Given the description of an element on the screen output the (x, y) to click on. 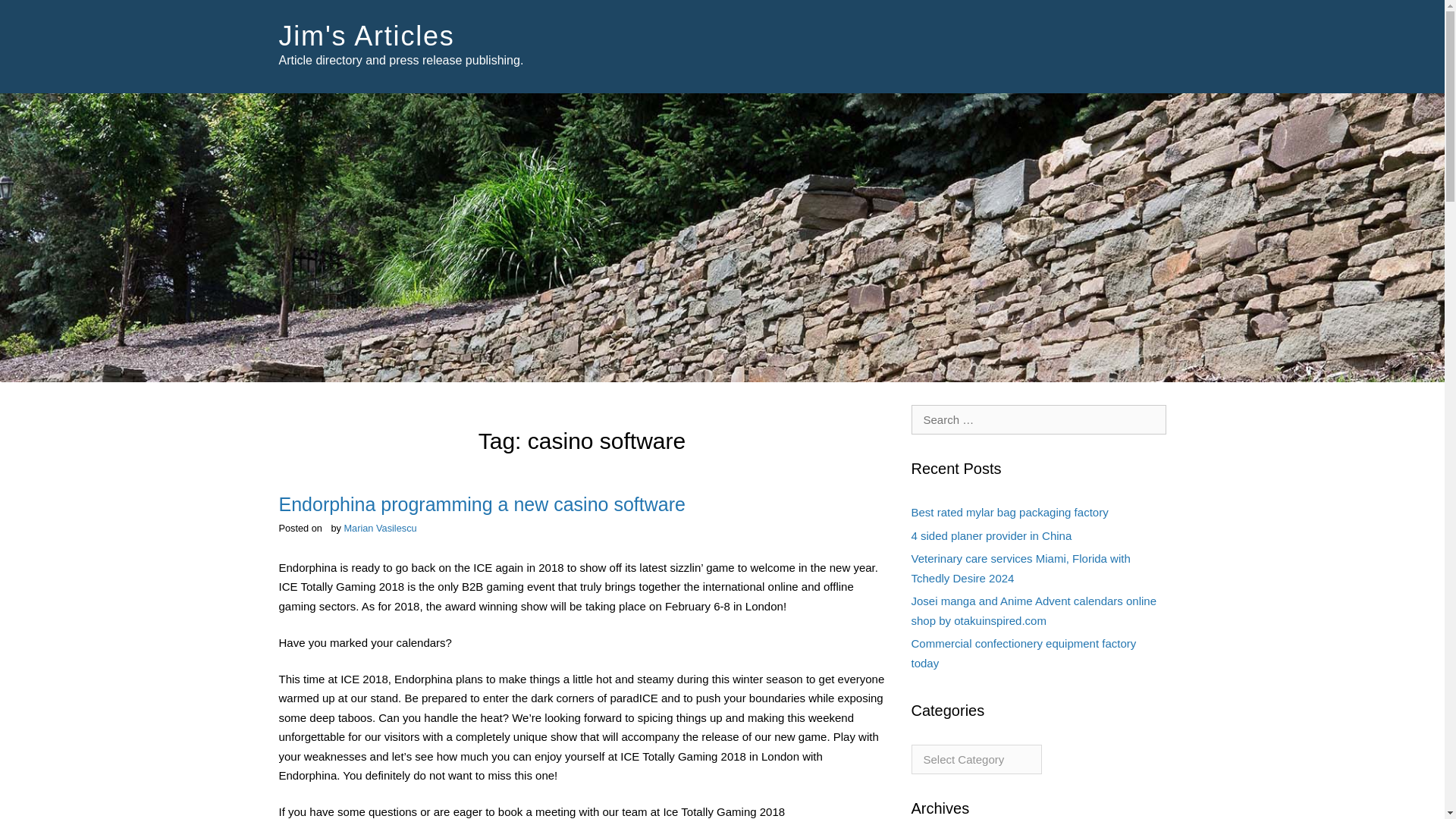
4 sided planer provider in China (991, 535)
Search (34, 14)
Commercial confectionery equipment factory today (1024, 653)
Endorphina programming a new casino software (482, 504)
Marian Vasilescu (379, 527)
Jim's Articles (366, 35)
Best rated mylar bag packaging factory (1009, 512)
